Given the description of an element on the screen output the (x, y) to click on. 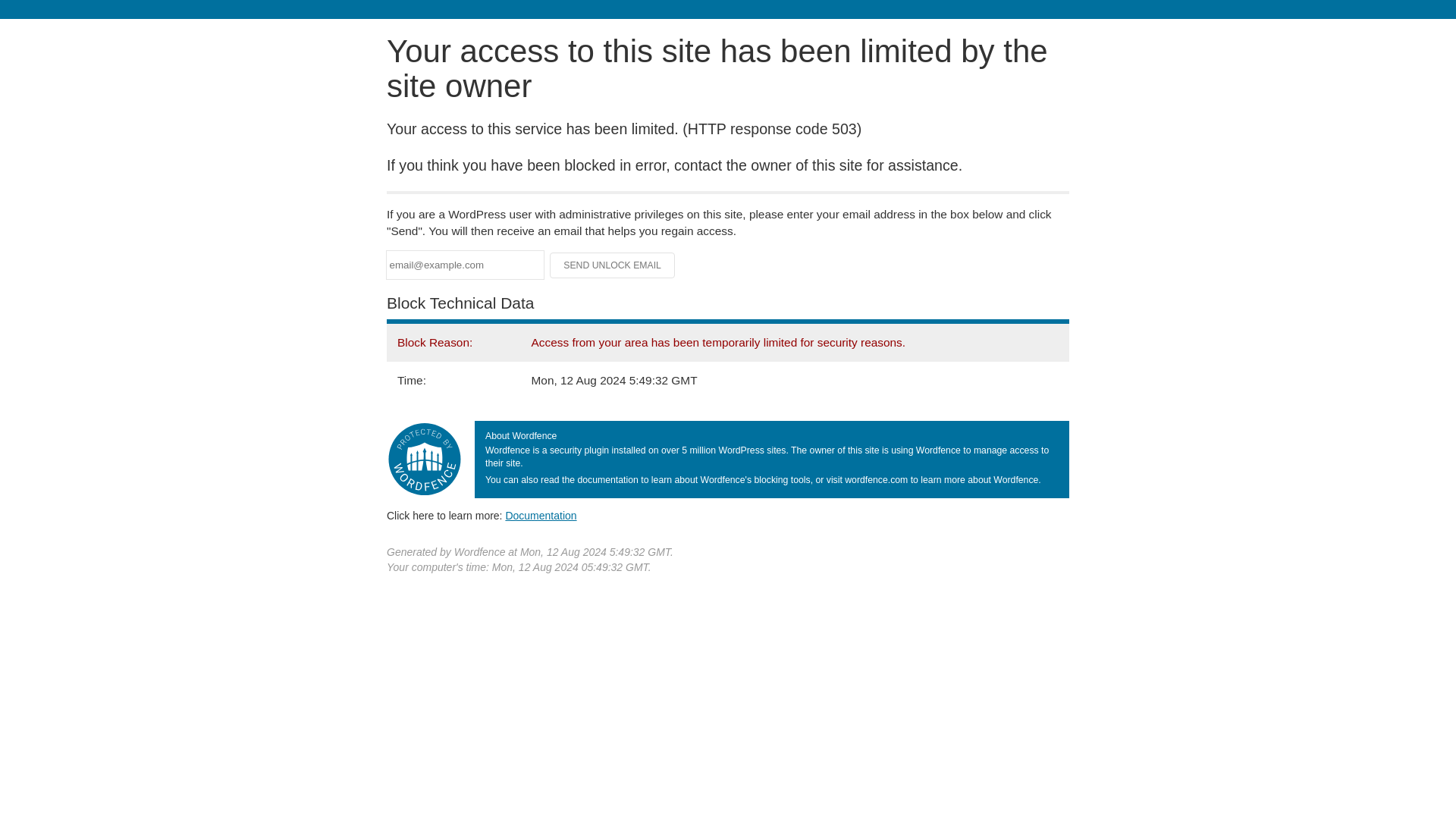
Send Unlock Email (612, 265)
Send Unlock Email (612, 265)
Documentation (540, 515)
